Given the description of an element on the screen output the (x, y) to click on. 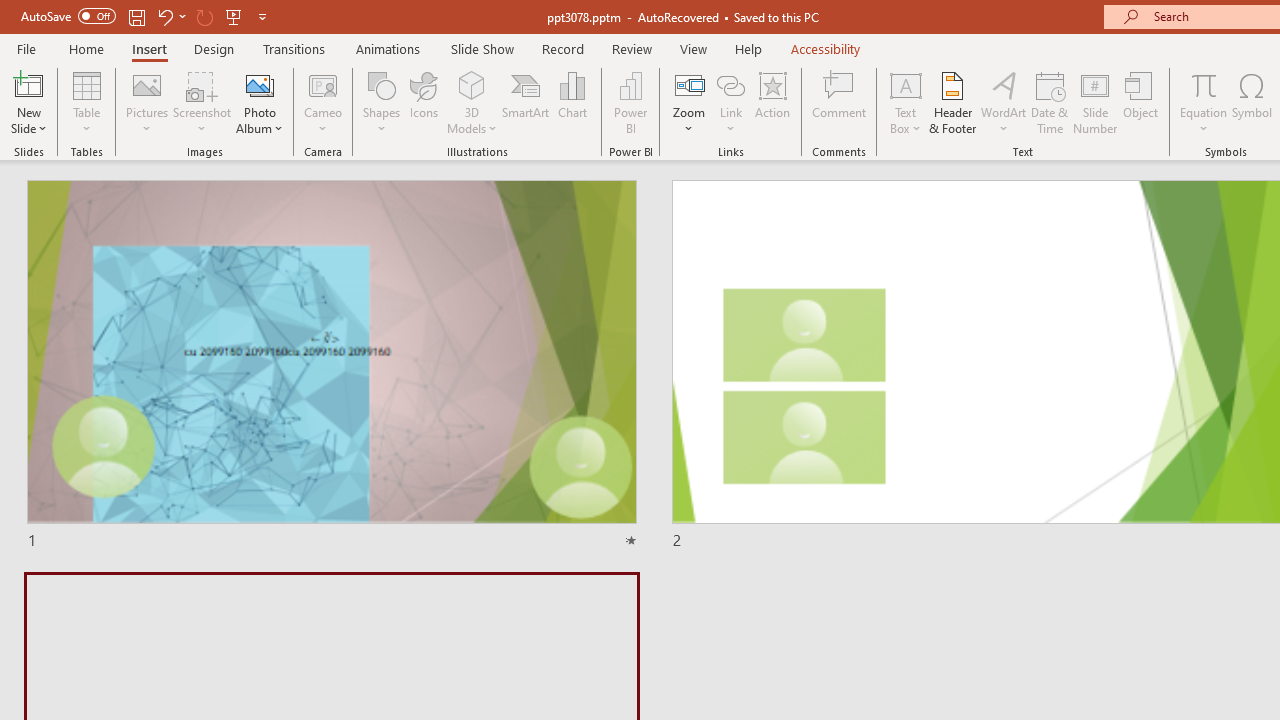
Header & Footer... (952, 102)
Photo Album... (259, 102)
WordArt (1004, 102)
